Given the description of an element on the screen output the (x, y) to click on. 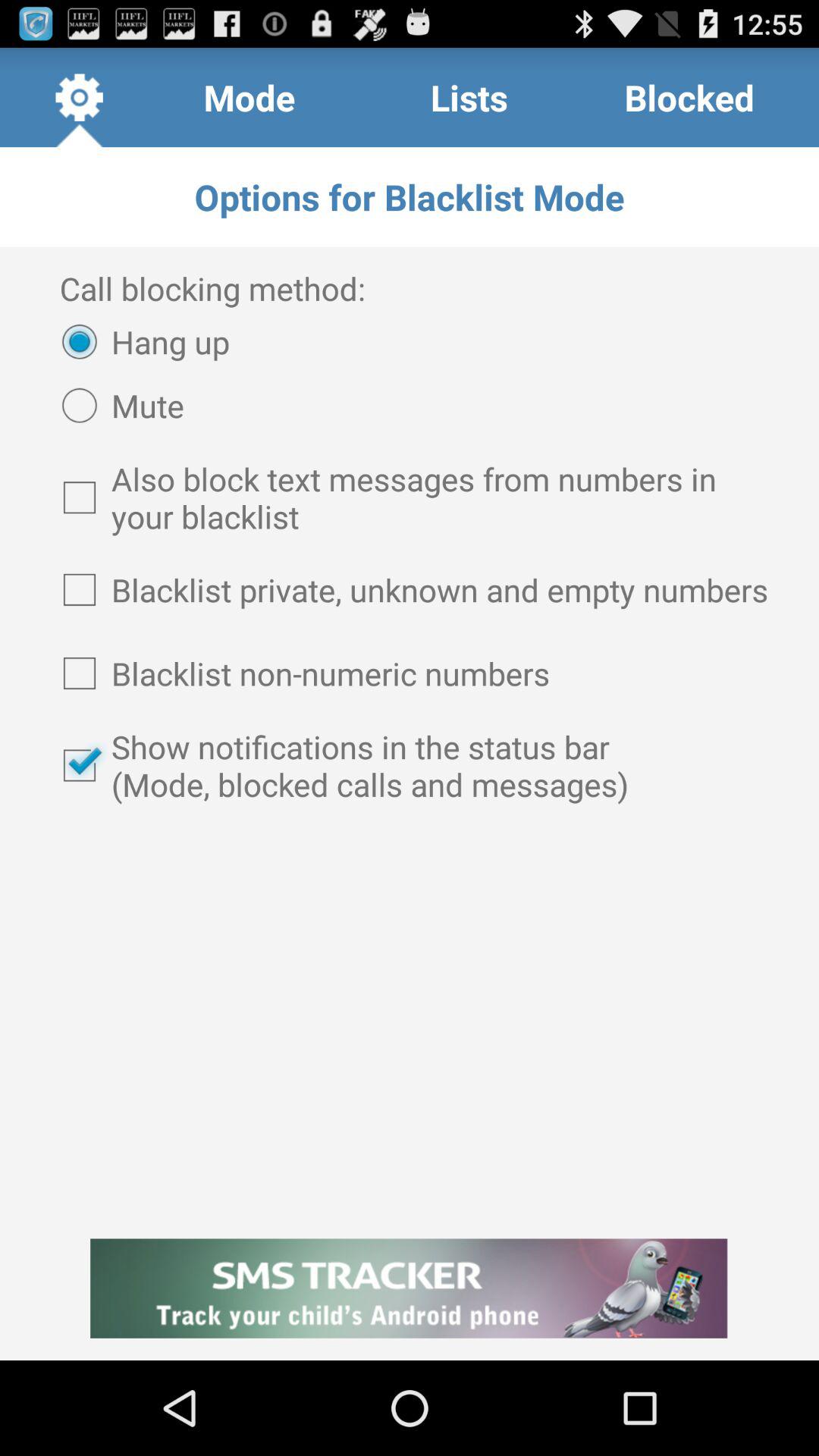
swipe until blacklist non numeric item (409, 673)
